Given the description of an element on the screen output the (x, y) to click on. 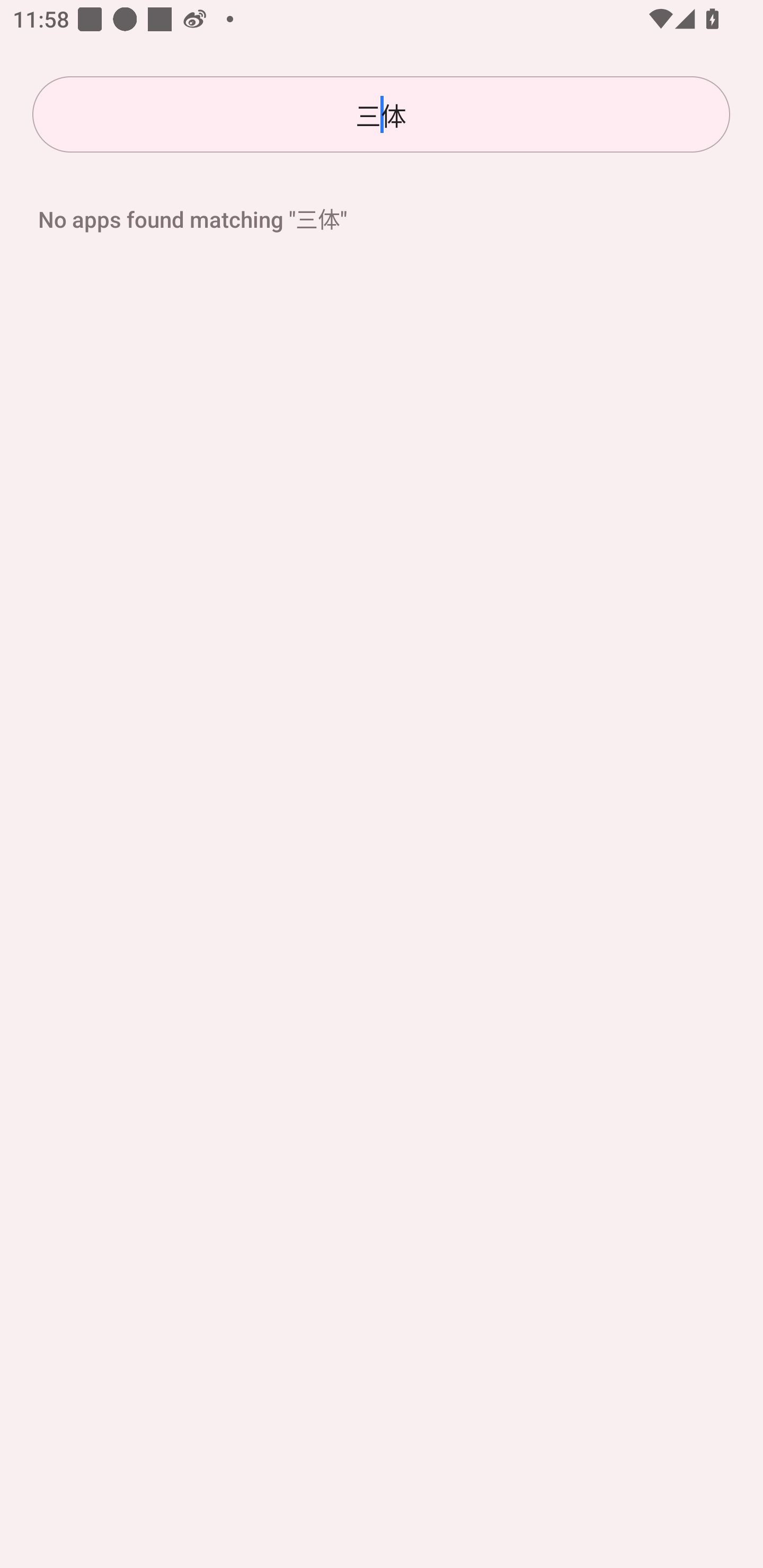
三体 (381, 114)
